Given the description of an element on the screen output the (x, y) to click on. 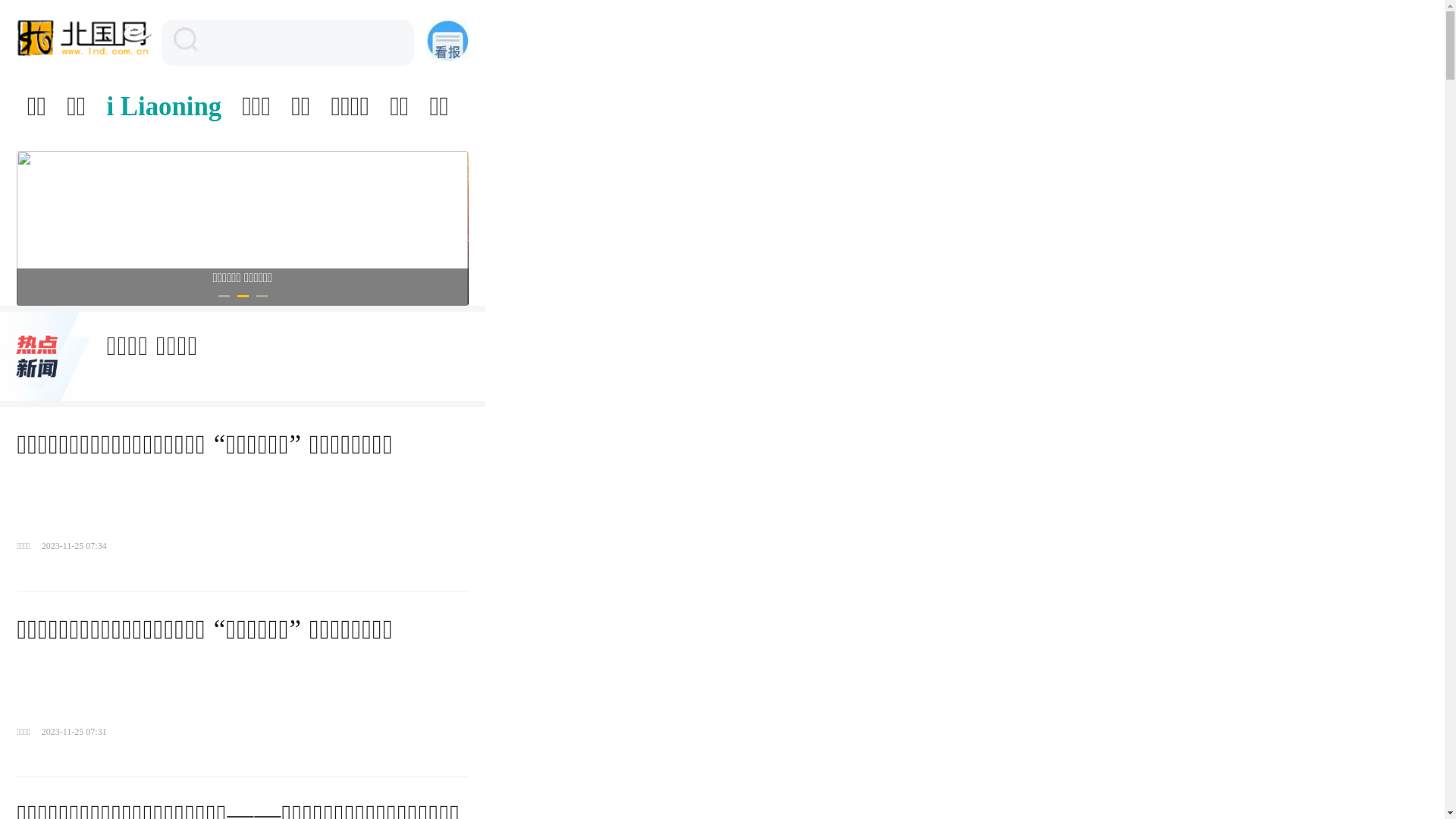
i Liaoning Element type: text (163, 106)
